Given the description of an element on the screen output the (x, y) to click on. 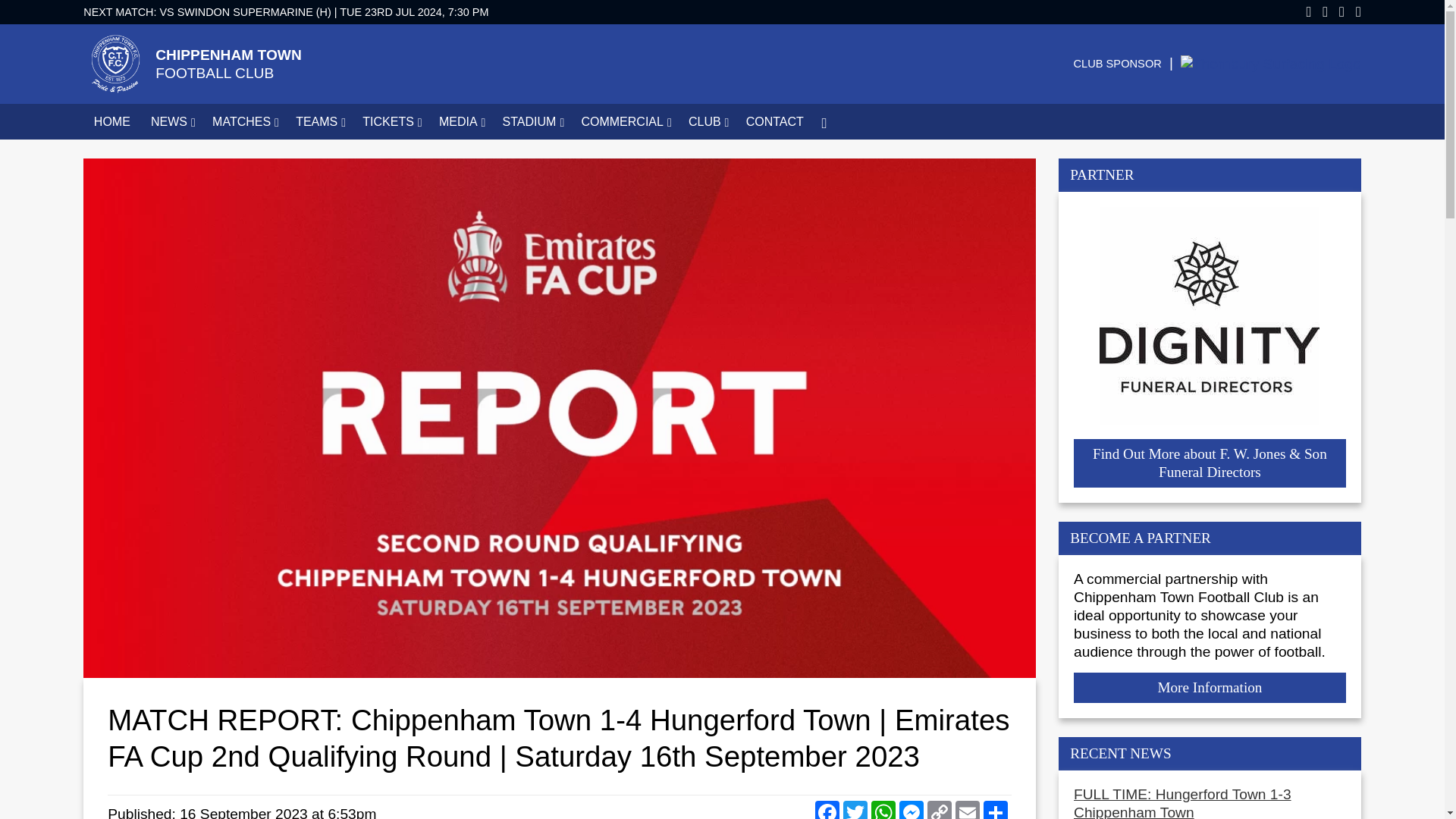
Email (969, 809)
MEDIA (460, 121)
MATCHES (243, 121)
Official Chippenham Town Instagram Account (1352, 12)
Chippenham Town Official Twitter Account (1319, 12)
TICKETS (390, 121)
HOME (110, 121)
Copy Link (941, 809)
Twitter (856, 809)
Facebook (829, 809)
TEAMS (450, 63)
WhatsApp (318, 121)
Messenger (884, 809)
COMMERCIAL (913, 809)
